Given the description of an element on the screen output the (x, y) to click on. 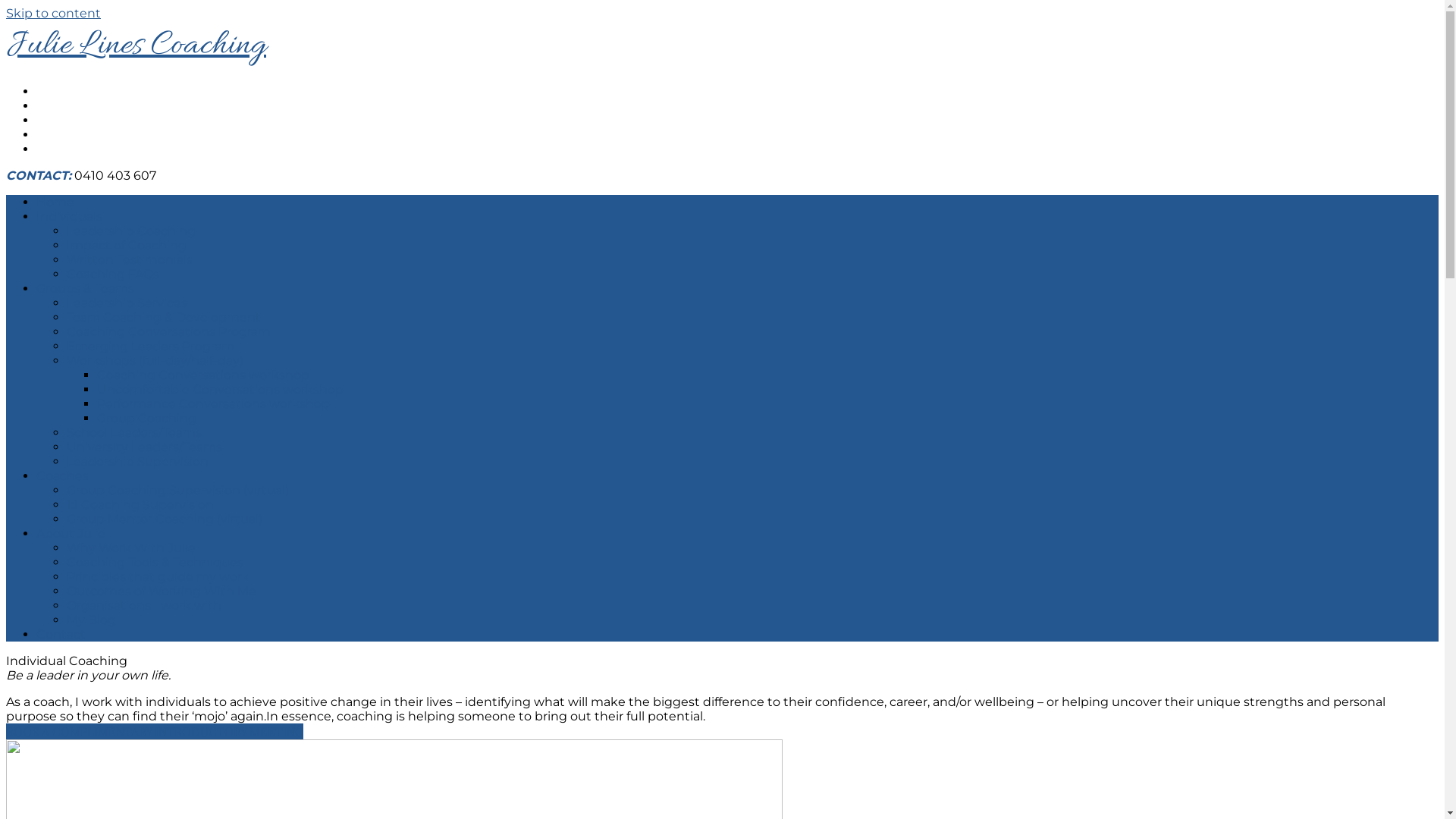
Skip to content Element type: text (53, 13)
My Blog Element type: text (91, 619)
Outcomes of Working With Me Element type: text (161, 590)
Why Work With Julie Element type: text (130, 547)
Leadership Supervision Element type: text (137, 461)
About Julie Element type: text (70, 533)
Coaches Element type: text (62, 475)
1:1 Coaching Supervision Element type: text (139, 504)
Home Element type: text (55, 201)
Group Coaching Element type: text (146, 418)
Contact Element type: text (60, 634)
Julie Lines Coaching Element type: text (136, 46)
Impact of Coaching Element type: text (126, 245)
BOOK A COMPLIMENTARY INTRODUCTORY MEETING Element type: text (154, 731)
School Leaders/Teams Element type: text (133, 432)
Coaching Tools & Techniques Element type: text (154, 562)
Individuals Element type: text (69, 216)
Organisations I work with Element type: text (143, 605)
Groups & Teams Element type: text (85, 288)
Written Testimonials Element type: text (129, 259)
Emerging Leaders Program Element type: text (150, 345)
Team Coaching & Development Element type: text (163, 317)
Principles that guide my work Element type: text (157, 576)
University Leaders/Teams Element type: text (144, 446)
Group Mentor Coaching (virtual) Element type: text (164, 518)
Workshops (full-day/half-day) Element type: text (154, 360)
Uncomfortable Conversations workshop Element type: text (220, 389)
Coaching FAQs Element type: text (112, 273)
Coaching Conversations Program Element type: text (168, 331)
Performance Conversations workshop Element type: text (213, 403)
Leadership Services Element type: text (126, 302)
Group Coaching Supervision (virtual) Element type: text (177, 490)
Coaching Conversations workshop Element type: text (203, 374)
Leadership Coaching Element type: text (130, 230)
